Given the description of an element on the screen output the (x, y) to click on. 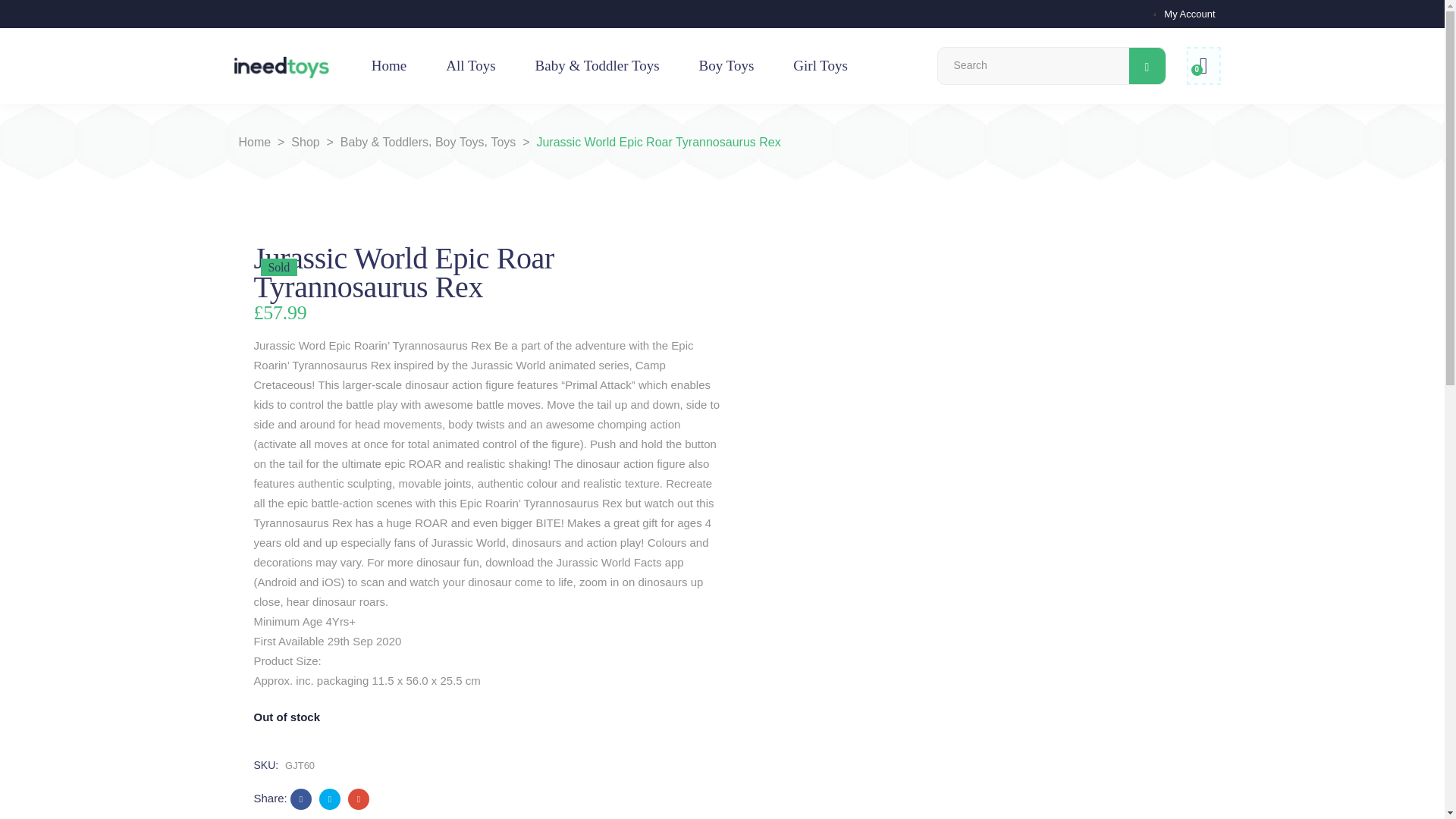
All Toys (470, 65)
Home (389, 65)
Shop (304, 142)
Search for: (1033, 65)
Girl Toys (820, 65)
Toys (502, 142)
Boy Toys (459, 142)
My Account (1188, 12)
Boy Toys (726, 65)
Home (254, 142)
